Given the description of an element on the screen output the (x, y) to click on. 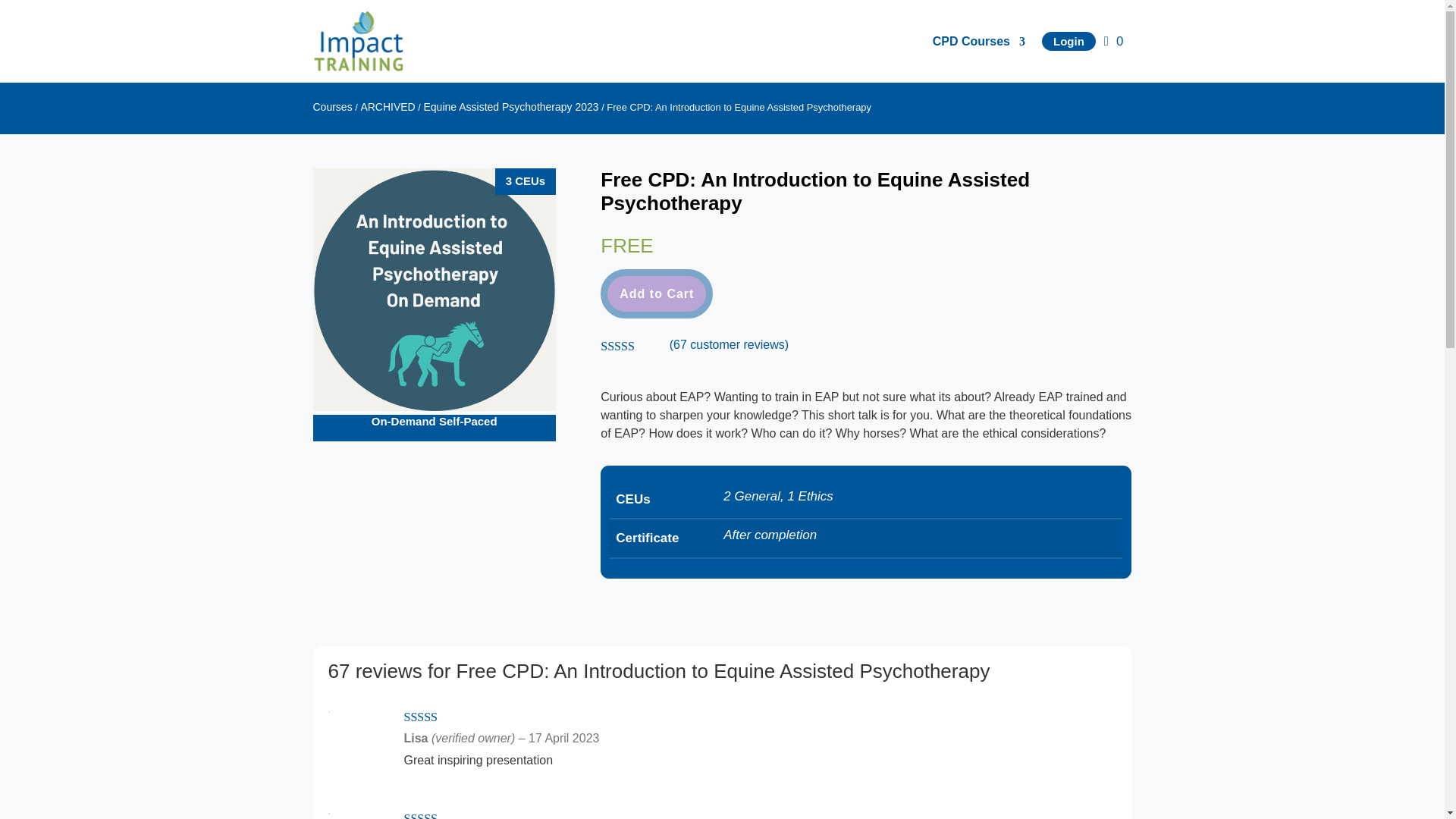
Add to Cart (656, 293)
Equine Assisted Psychotherapy 2023 (510, 106)
ARCHIVED (386, 106)
0 (1113, 41)
Login (1069, 41)
CPD Courses (979, 41)
Intro to EAP (433, 289)
Courses (332, 106)
